Given the description of an element on the screen output the (x, y) to click on. 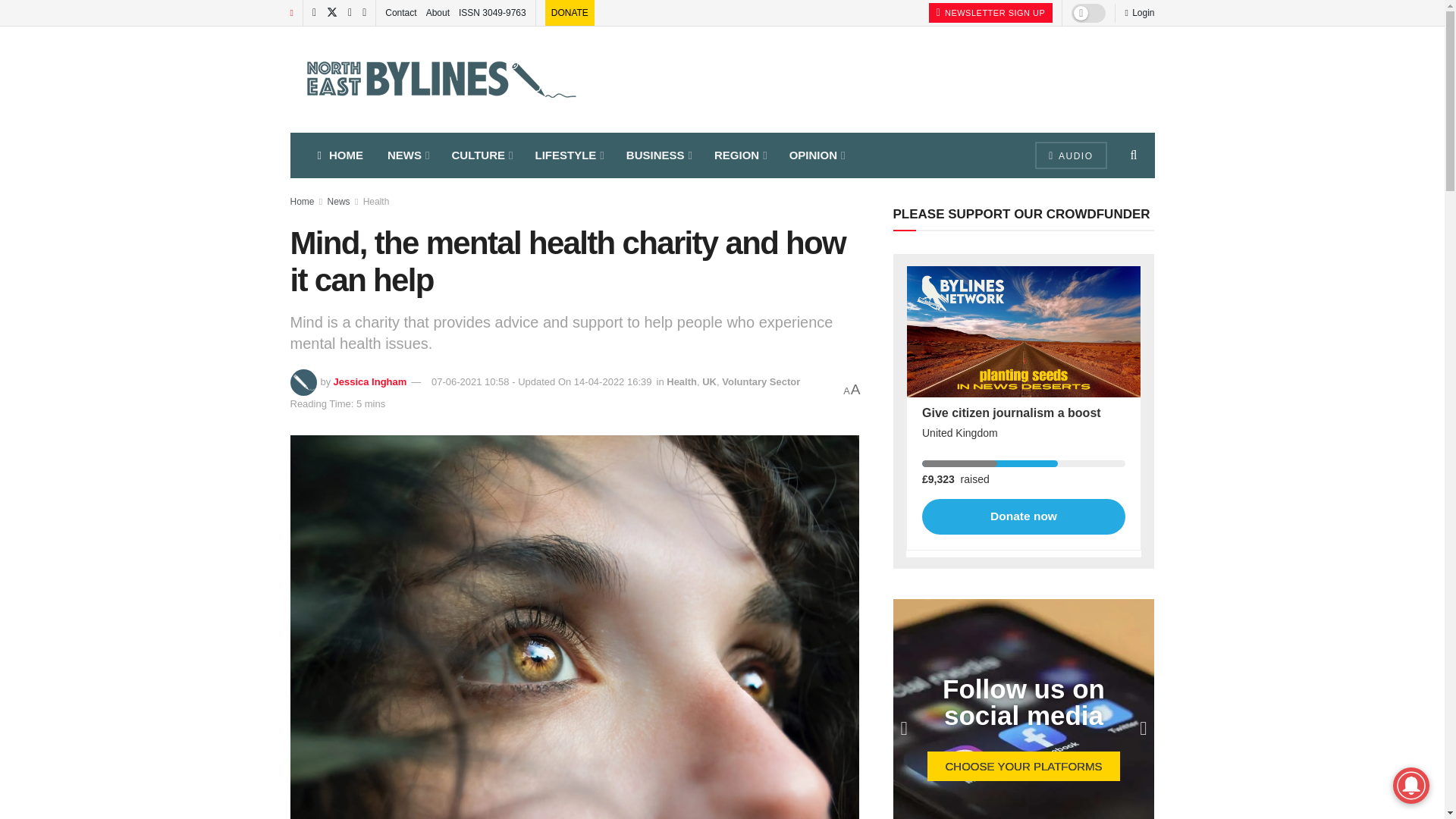
OPINION (816, 155)
Jessica Ingham (369, 381)
UK (708, 381)
HOME (339, 155)
Contact (400, 12)
REGION (739, 155)
About (437, 12)
DONATE (569, 12)
Health (681, 381)
NEWSLETTER SIGN UP (990, 12)
NEWS (407, 155)
CULTURE (480, 155)
News (338, 201)
Login (1139, 12)
BUSINESS (657, 155)
